Given the description of an element on the screen output the (x, y) to click on. 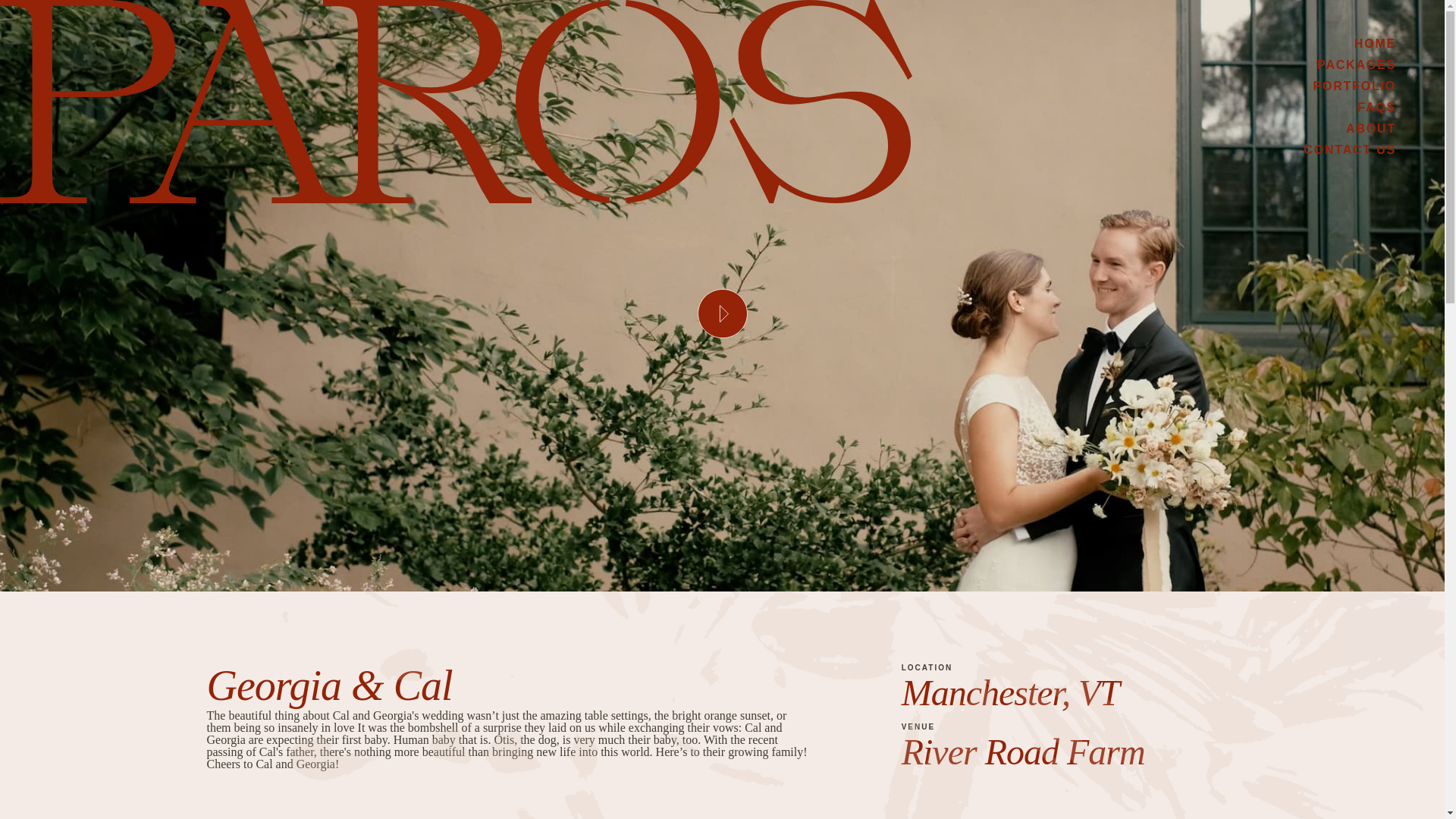
ABOUT (1370, 128)
PACKAGES (1356, 64)
PORTFOLIO (1354, 85)
HOME (1375, 42)
FAQS (1376, 106)
CONTACT US (1349, 149)
